Given the description of an element on the screen output the (x, y) to click on. 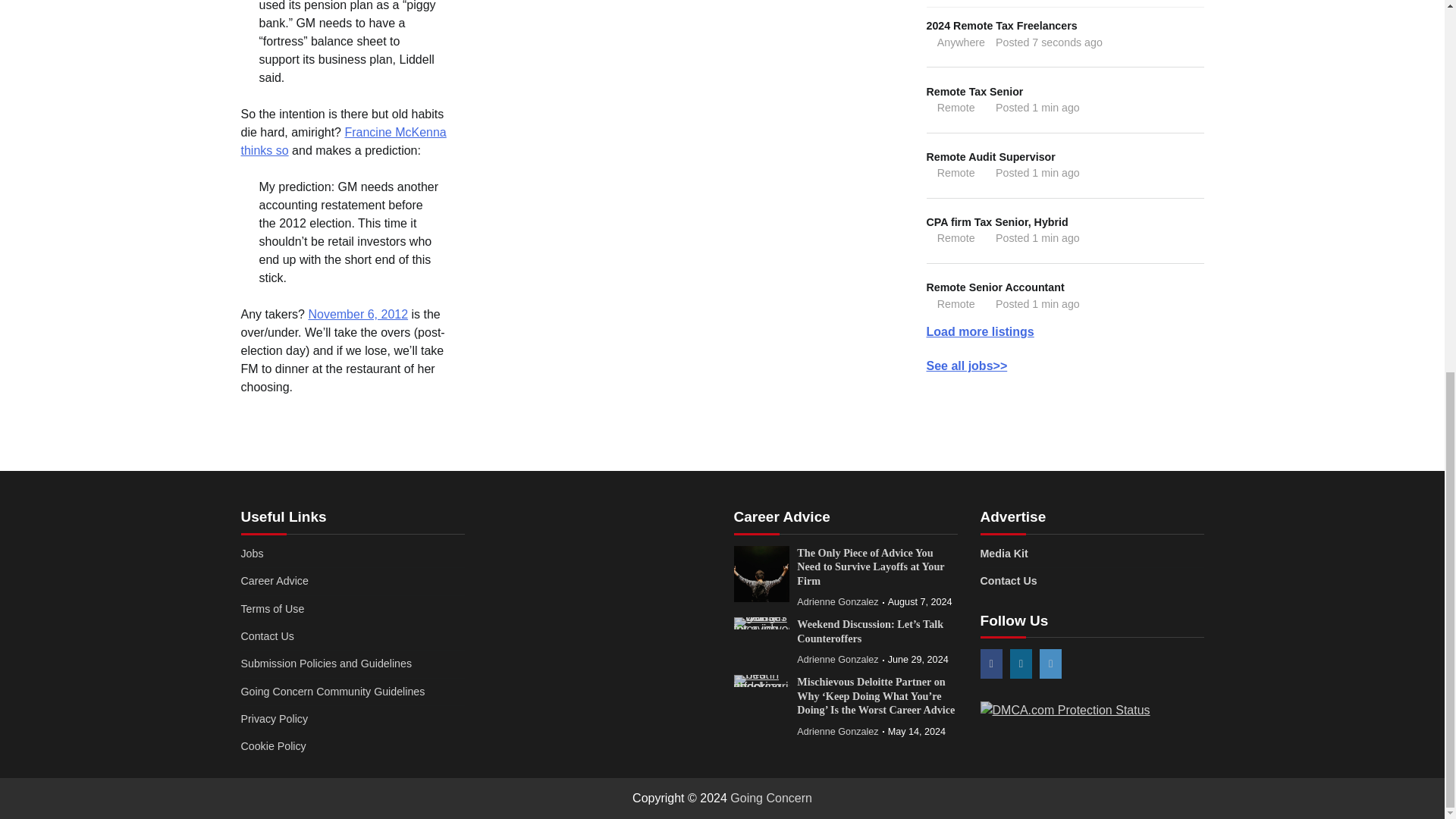
November 6, 2012 (357, 314)
Francine McKenna thinks so (1064, 709)
